Given the description of an element on the screen output the (x, y) to click on. 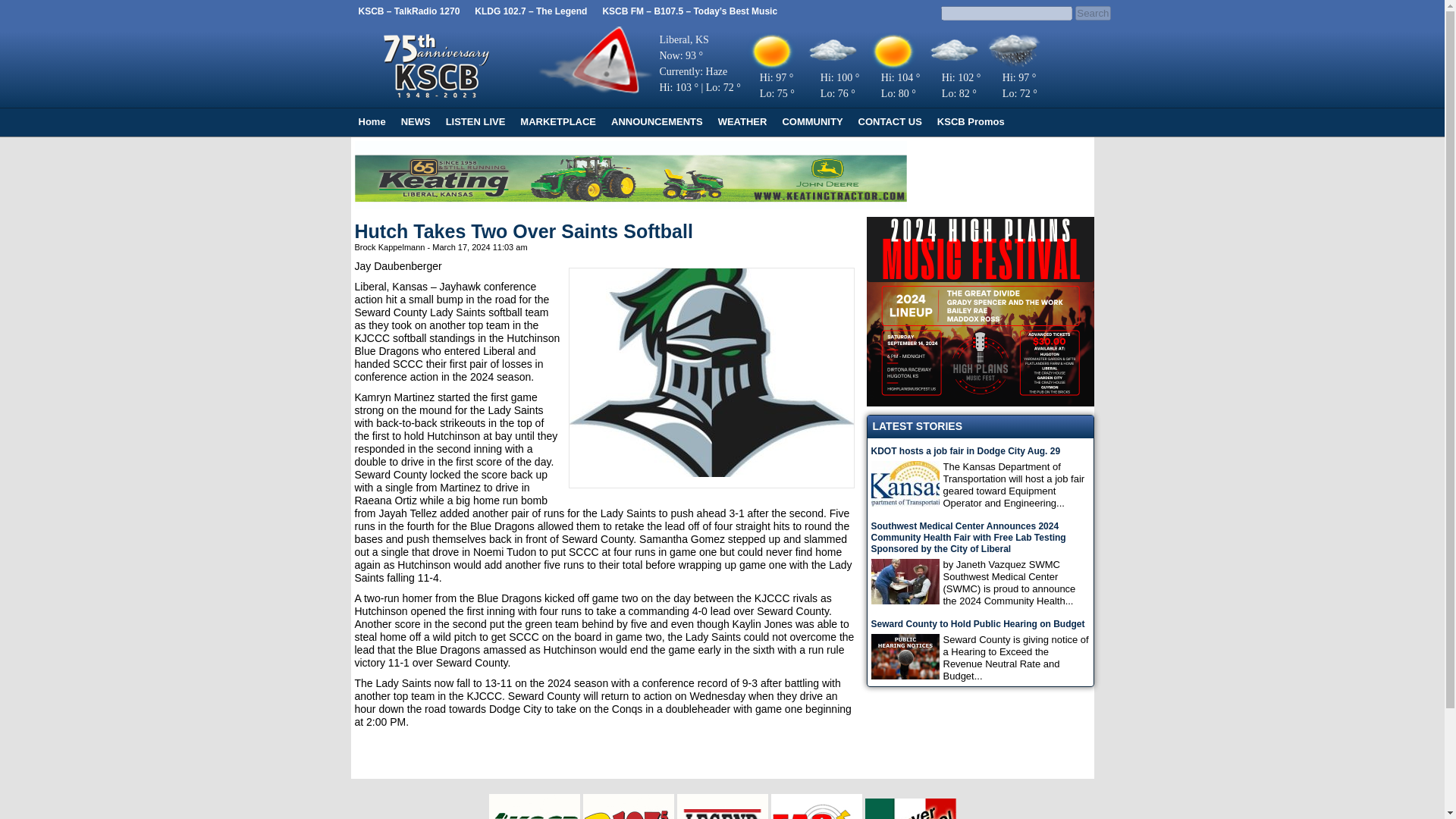
KSCB Promos (970, 121)
Search (1092, 12)
NEWS (415, 121)
COMMUNITY (812, 121)
LISTEN LIVE (475, 121)
KDOT hosts a job fair in Dodge City Aug. 29 (979, 451)
Seward County to Hold Public Hearing on Budget (979, 624)
CONTACT US (890, 121)
ANNOUNCEMENTS (657, 121)
